Given the description of an element on the screen output the (x, y) to click on. 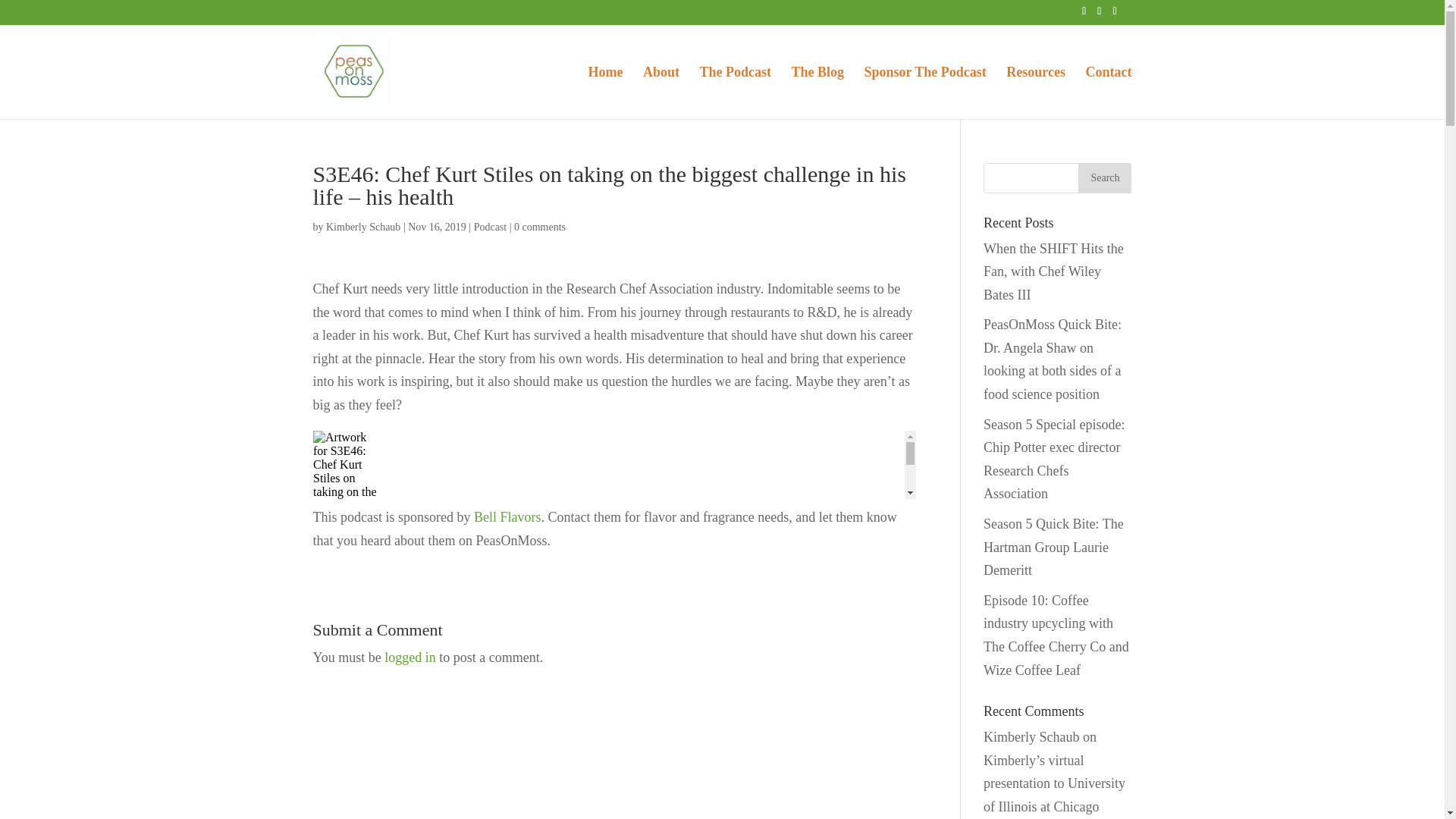
Season 5 Quick Bite: The Hartman Group Laurie Demeritt (1054, 547)
Posts by Kimberly Schaub (363, 226)
Search (1104, 177)
Resources (1035, 92)
logged in (409, 657)
Sponsor The Podcast (924, 92)
The Blog (817, 92)
When the SHIFT Hits the Fan, with Chef Wiley Bates III (1054, 271)
Kimberly Schaub (1031, 736)
Kimberly Schaub (363, 226)
Podcast (490, 226)
The Podcast (734, 92)
